Given the description of an element on the screen output the (x, y) to click on. 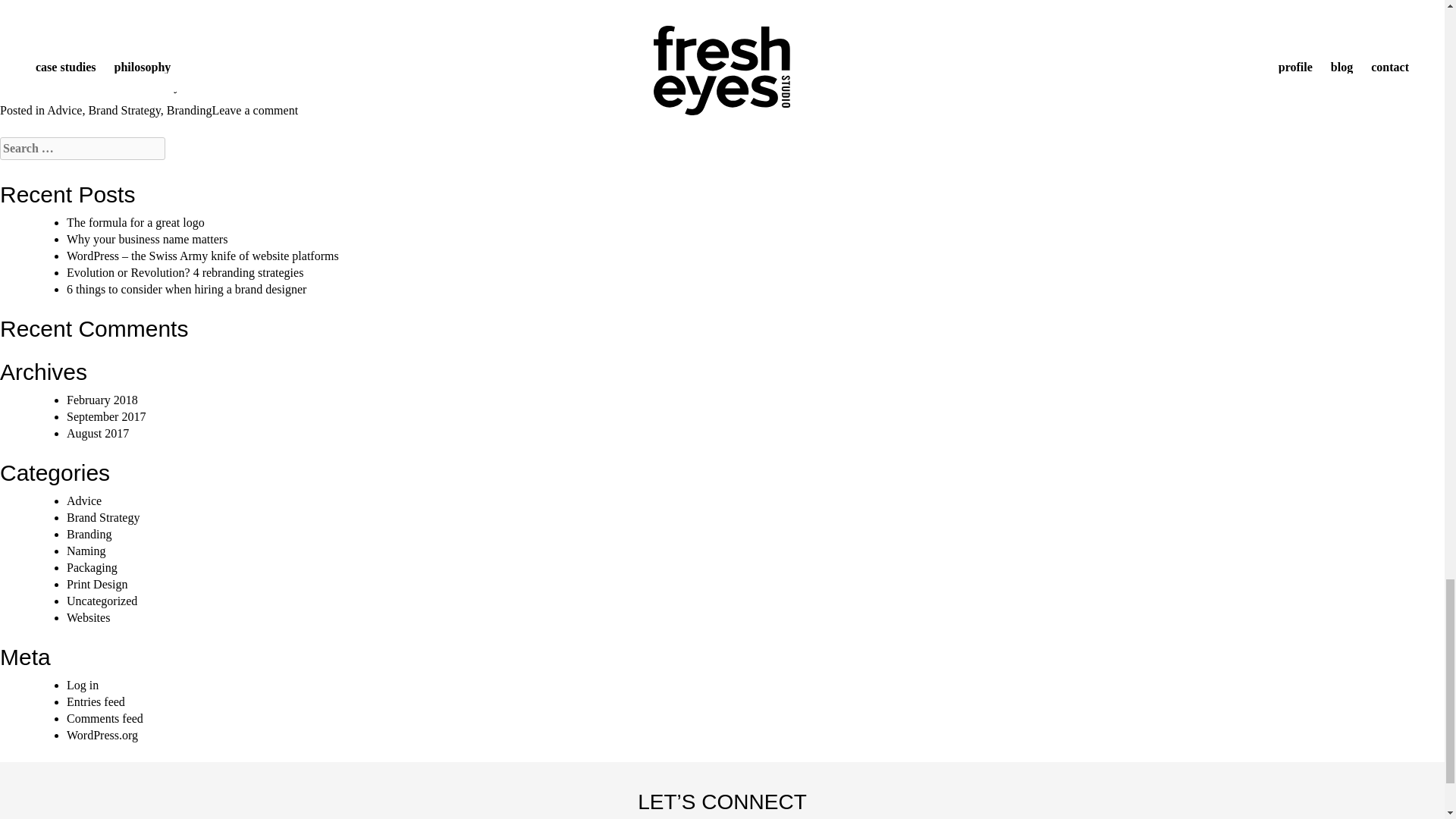
Branding (189, 110)
August 2017 (97, 432)
Advice (63, 110)
Leave a comment (254, 110)
The formula for a great logo (135, 222)
here (240, 85)
February 2018 (102, 399)
Evolution or Revolution? 4 rebranding strategies (184, 272)
Why your business name matters (146, 238)
September 2017 (105, 416)
Brand Strategy (123, 110)
6 things to consider when hiring a brand designer (185, 288)
